Given the description of an element on the screen output the (x, y) to click on. 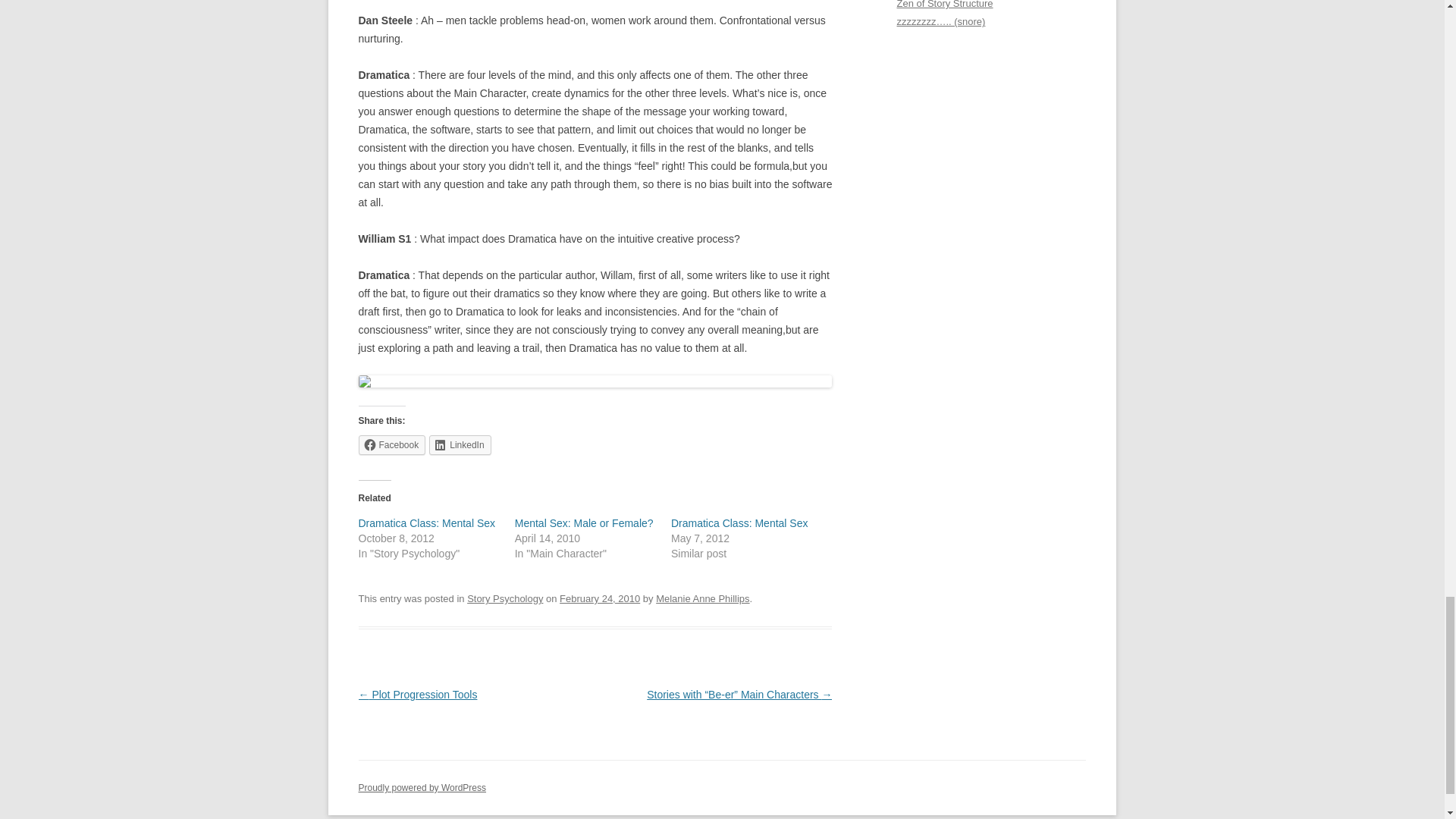
Dramatica Class: Mental Sex (739, 522)
Dramatica Class: Mental Sex (739, 522)
View all posts by Melanie Anne Phillips (702, 598)
Dramatica Class: Mental Sex (426, 522)
Story Psychology (505, 598)
Facebook (391, 444)
February 24, 2010 (599, 598)
LinkedIn (459, 444)
Melanie Anne Phillips (702, 598)
Mental Sex: Male or Female? (584, 522)
